Given the description of an element on the screen output the (x, y) to click on. 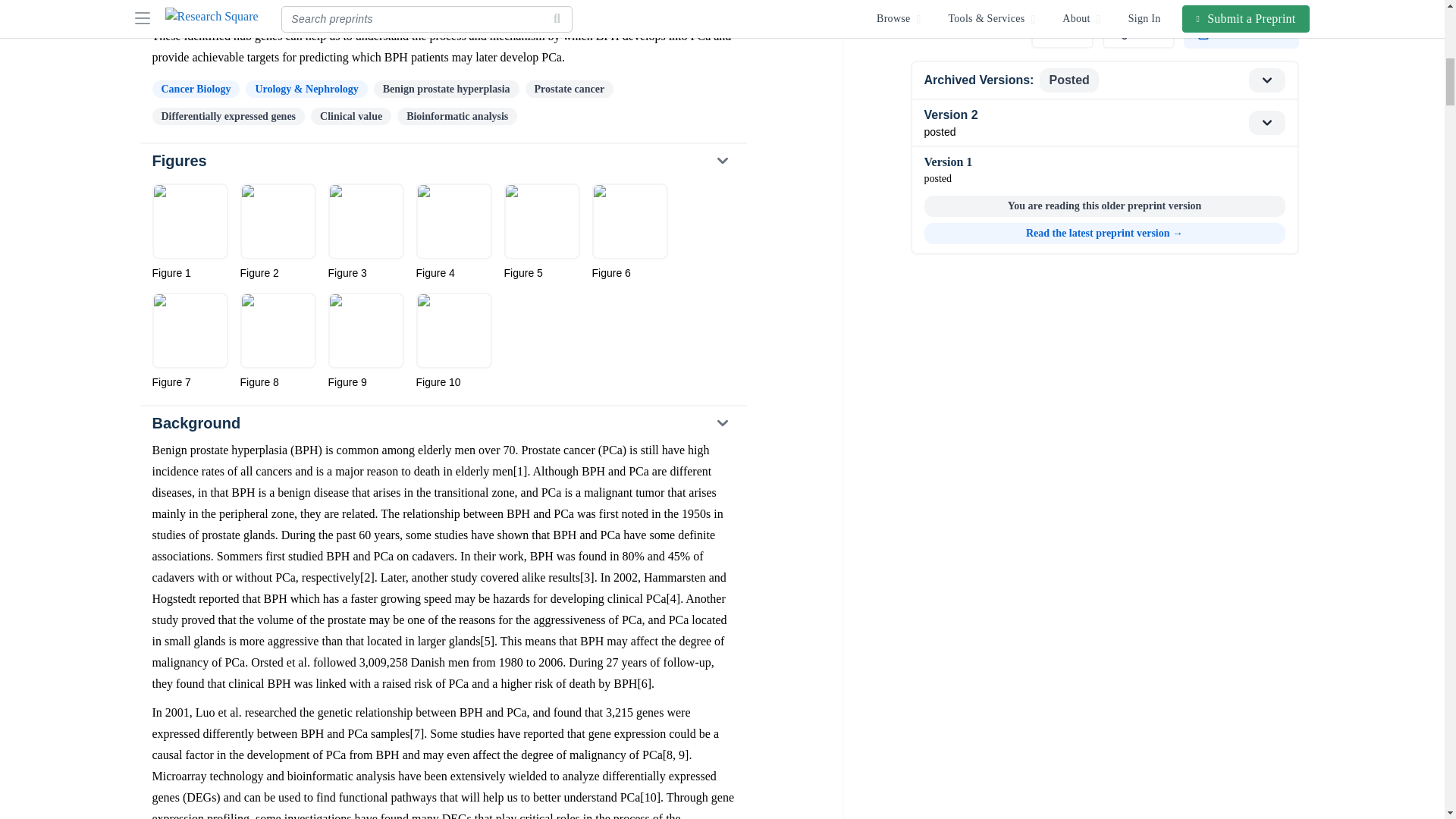
Cancer Biology (195, 88)
Figures (442, 160)
